Given the description of an element on the screen output the (x, y) to click on. 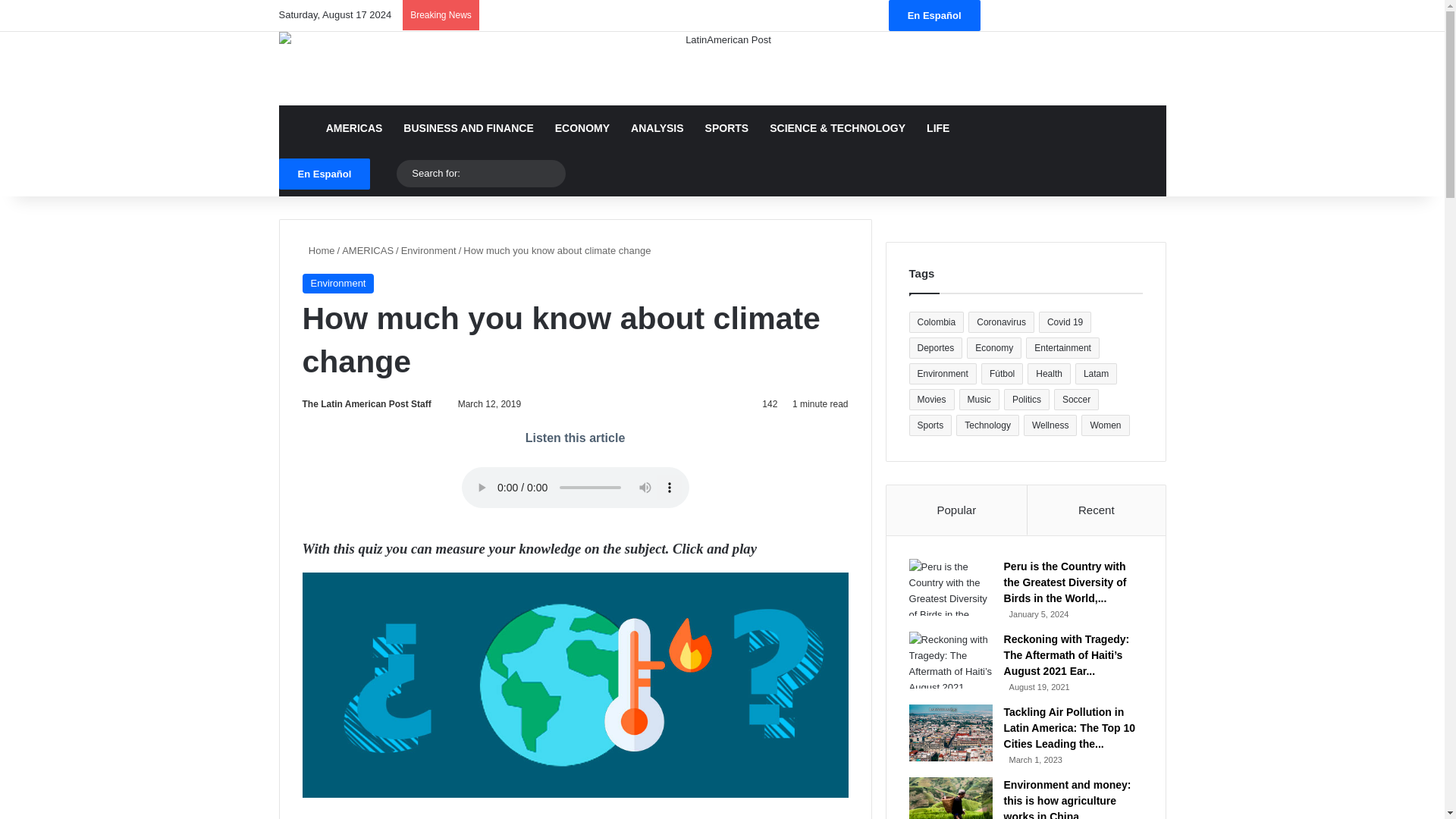
ECONOMY (582, 127)
BUSINESS AND FINANCE (468, 127)
The Latin American Post Staff (365, 403)
Environment (337, 283)
AMERICAS (367, 250)
AMERICAS (354, 127)
Environment (429, 250)
Home (317, 250)
LatinAmerican Post (722, 67)
LIFE (937, 127)
